Given the description of an element on the screen output the (x, y) to click on. 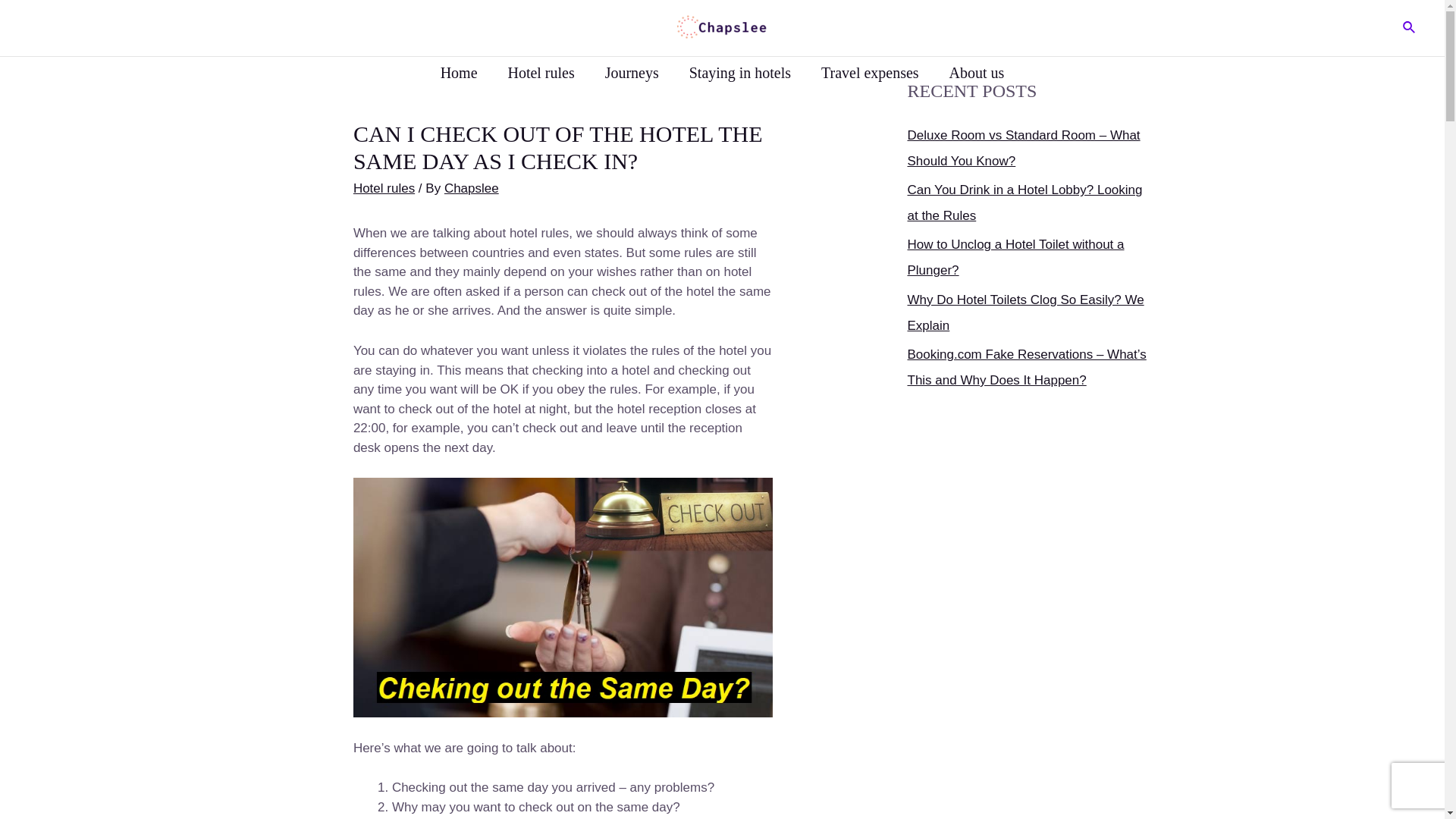
Home (459, 72)
Can You Drink in a Hotel Lobby? Looking at the Rules (1024, 202)
Hotel rules (540, 72)
How to Unclog a Hotel Toilet without a Plunger? (1015, 257)
Hotel rules (383, 187)
View all posts by Chapslee (471, 187)
Travel expenses (870, 72)
Journeys (631, 72)
Chapslee (471, 187)
Staying in hotels (740, 72)
